Given the description of an element on the screen output the (x, y) to click on. 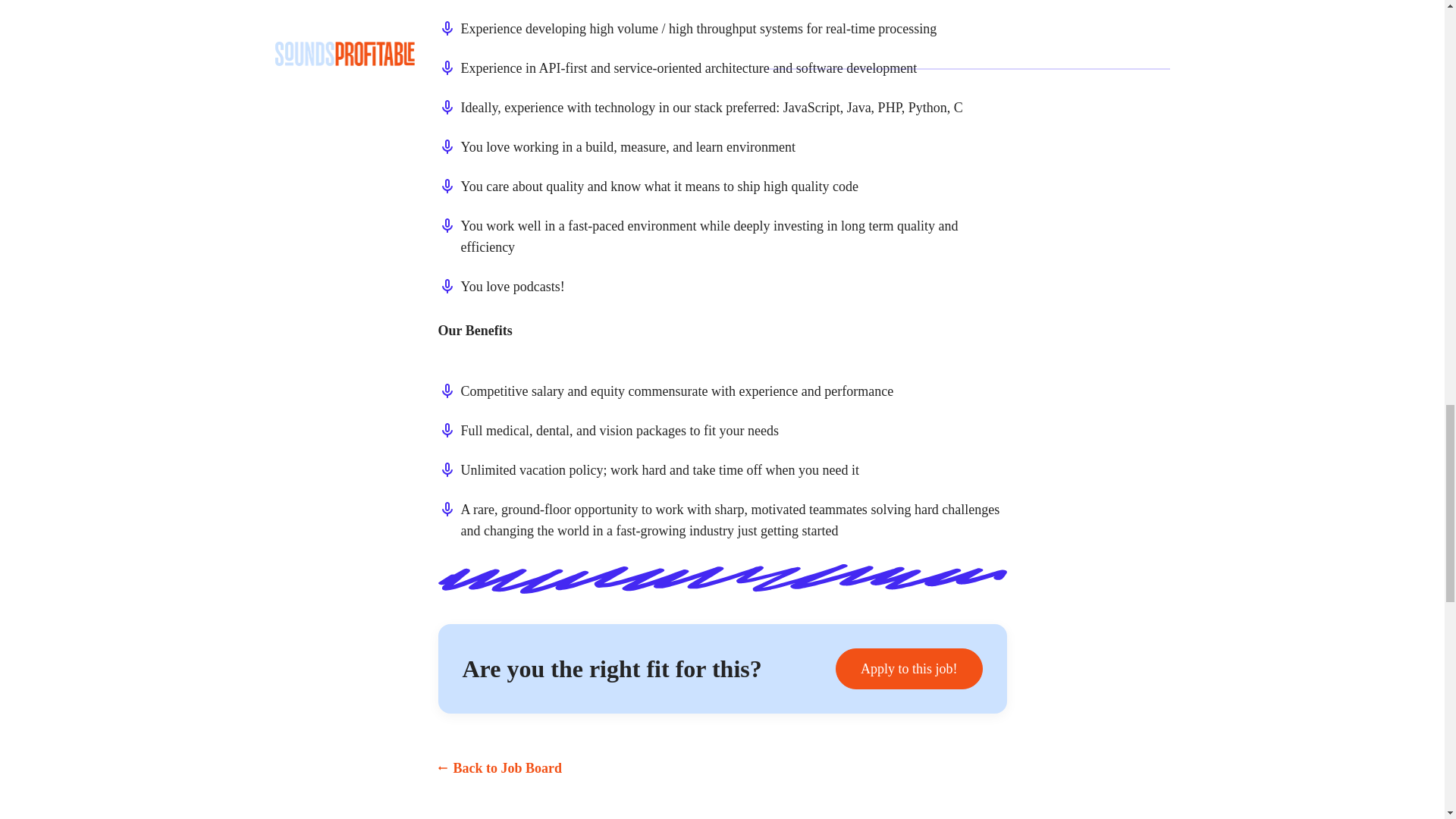
Apply to this job! (908, 668)
Back to Job Board (500, 767)
